Given the description of an element on the screen output the (x, y) to click on. 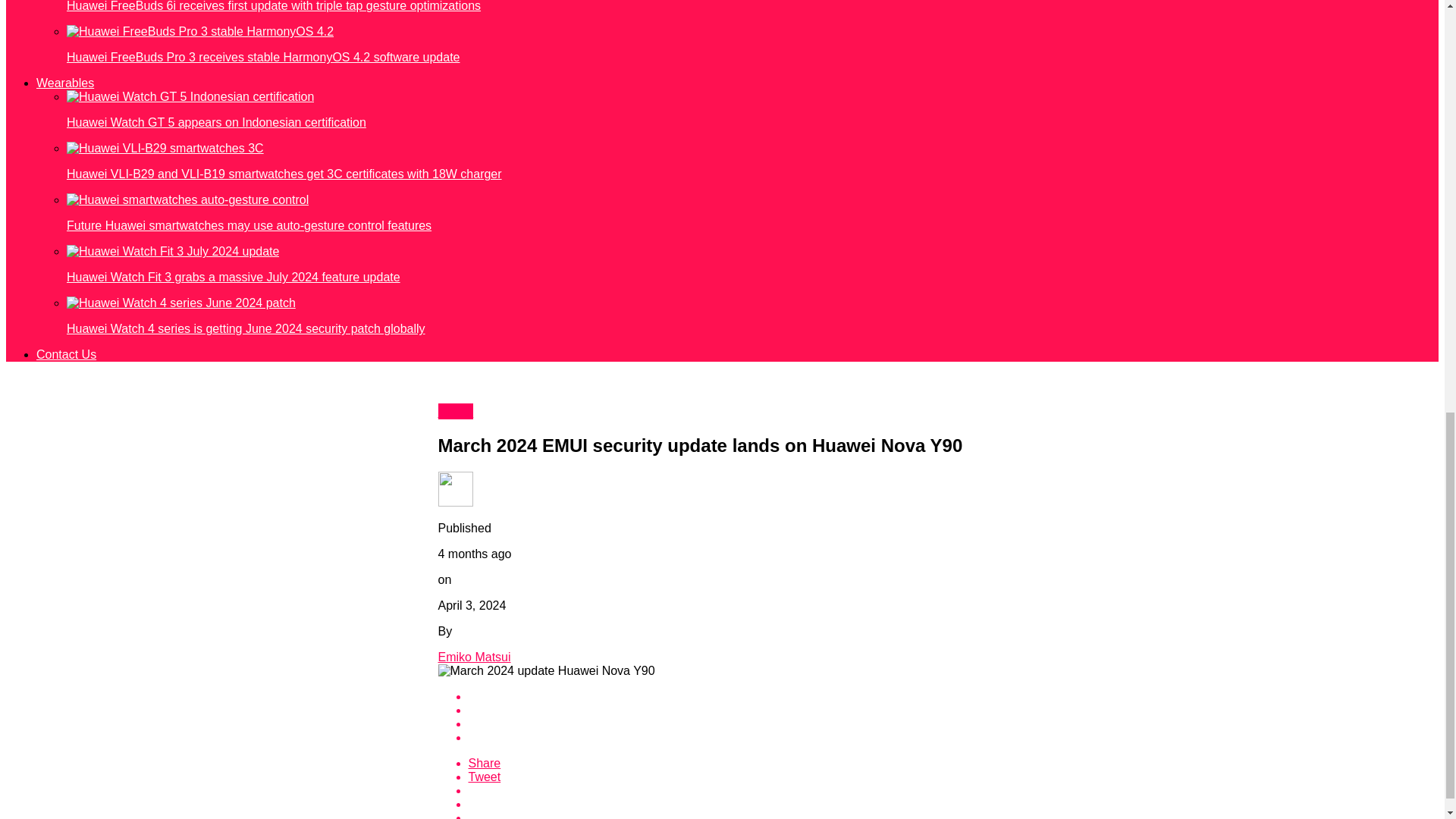
Tweet This Post (737, 710)
Pin This Post (737, 724)
Posts by Emiko Matsui (474, 656)
Pin This Post (737, 790)
Share on Facebook (737, 763)
Tweet This Post (737, 776)
Share on Facebook (737, 696)
